Given the description of an element on the screen output the (x, y) to click on. 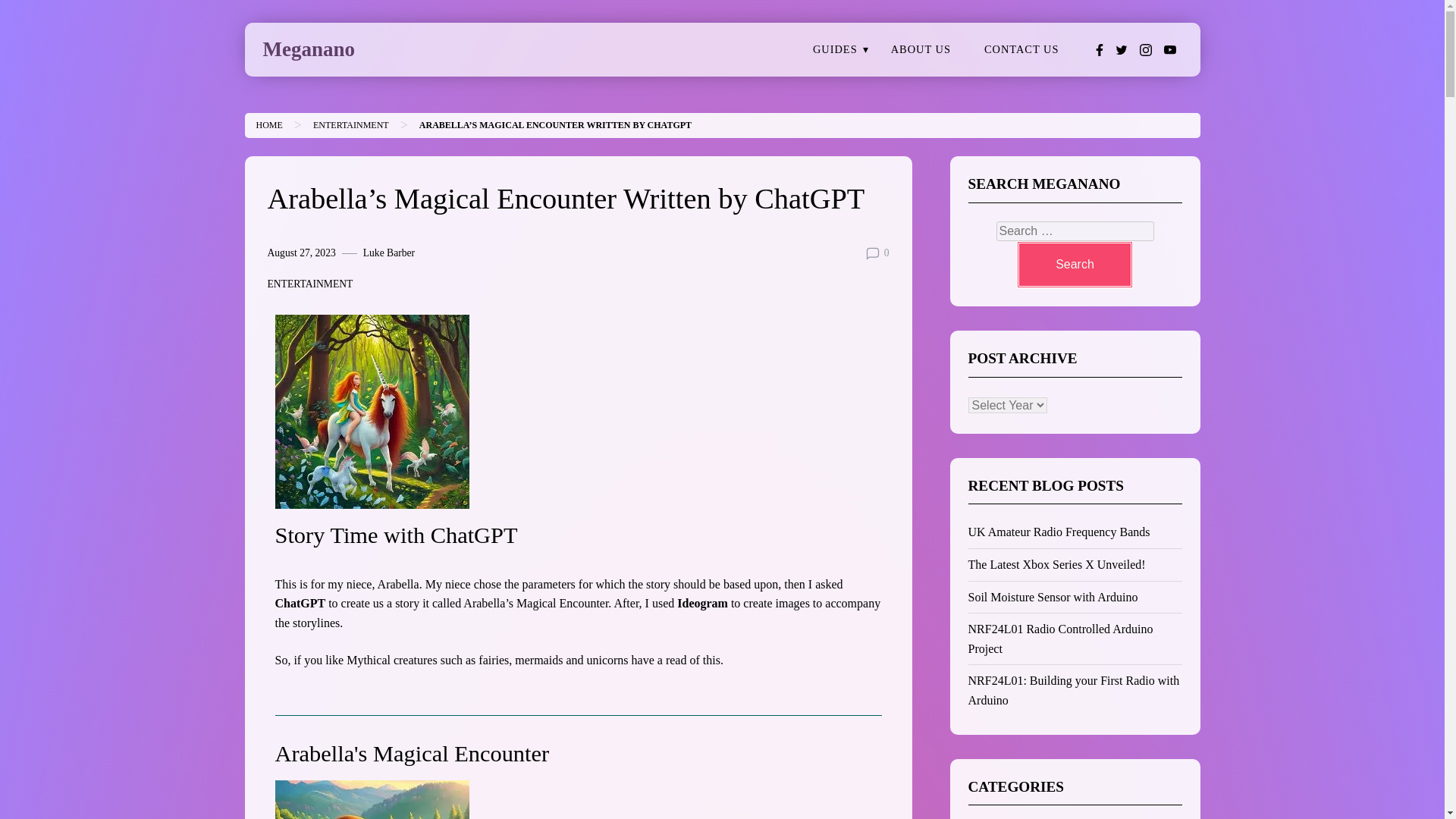
ENTERTAINMENT (350, 124)
HOME (269, 124)
Search (1074, 264)
Home (269, 124)
ABOUT US (921, 49)
Meganano (308, 48)
ENTERTAINMENT (309, 284)
August 27, 2023 (300, 252)
Search (1074, 264)
GUIDES (834, 49)
Luke Barber (388, 252)
CONTACT US (1021, 49)
